Given the description of an element on the screen output the (x, y) to click on. 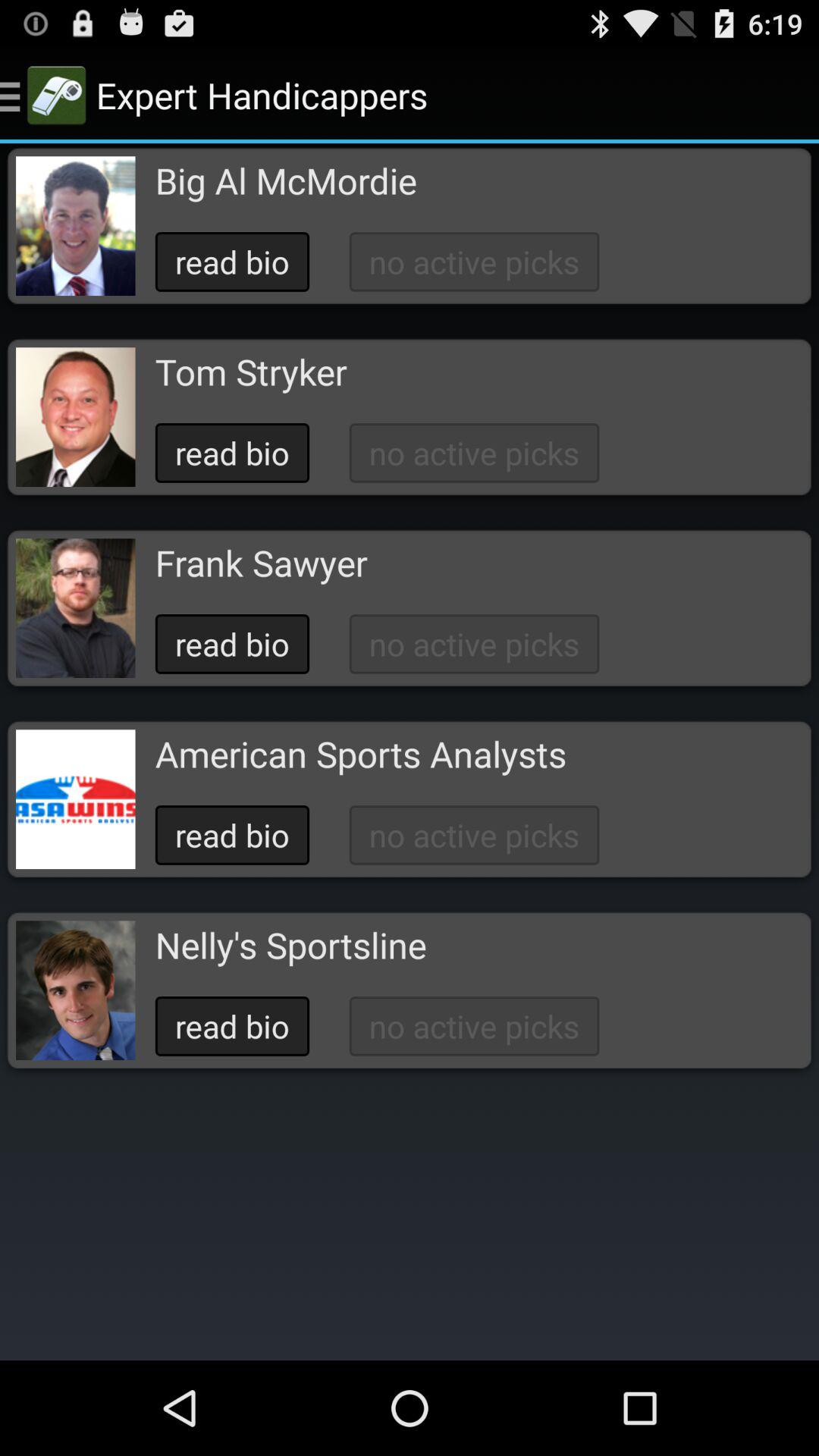
turn off frank sawyer icon (261, 562)
